Given the description of an element on the screen output the (x, y) to click on. 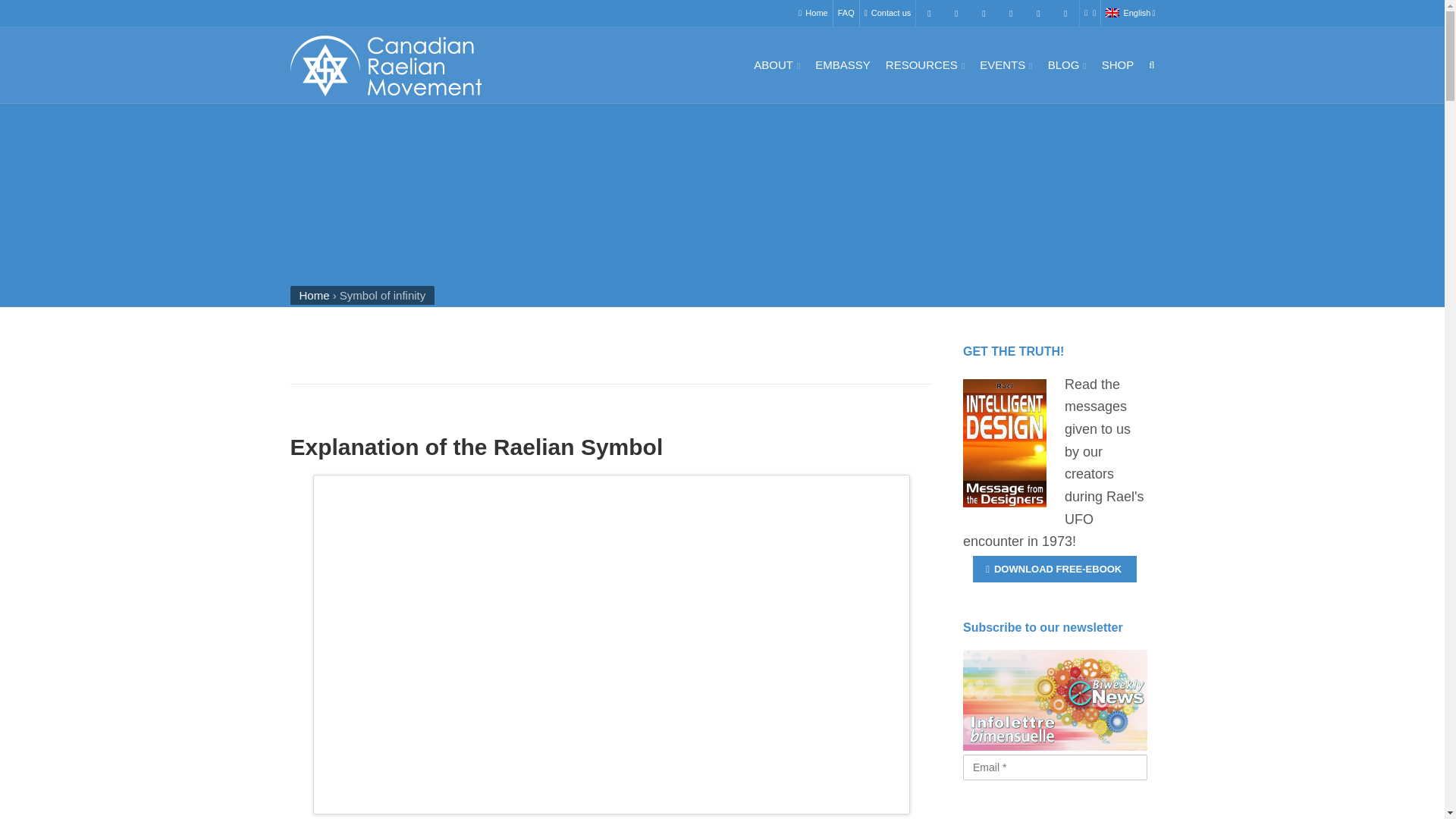
EMBASSY (842, 65)
EVENTS (1005, 65)
Home (812, 13)
Contact us (887, 13)
RESOURCES (924, 65)
English (1129, 13)
